Given the description of an element on the screen output the (x, y) to click on. 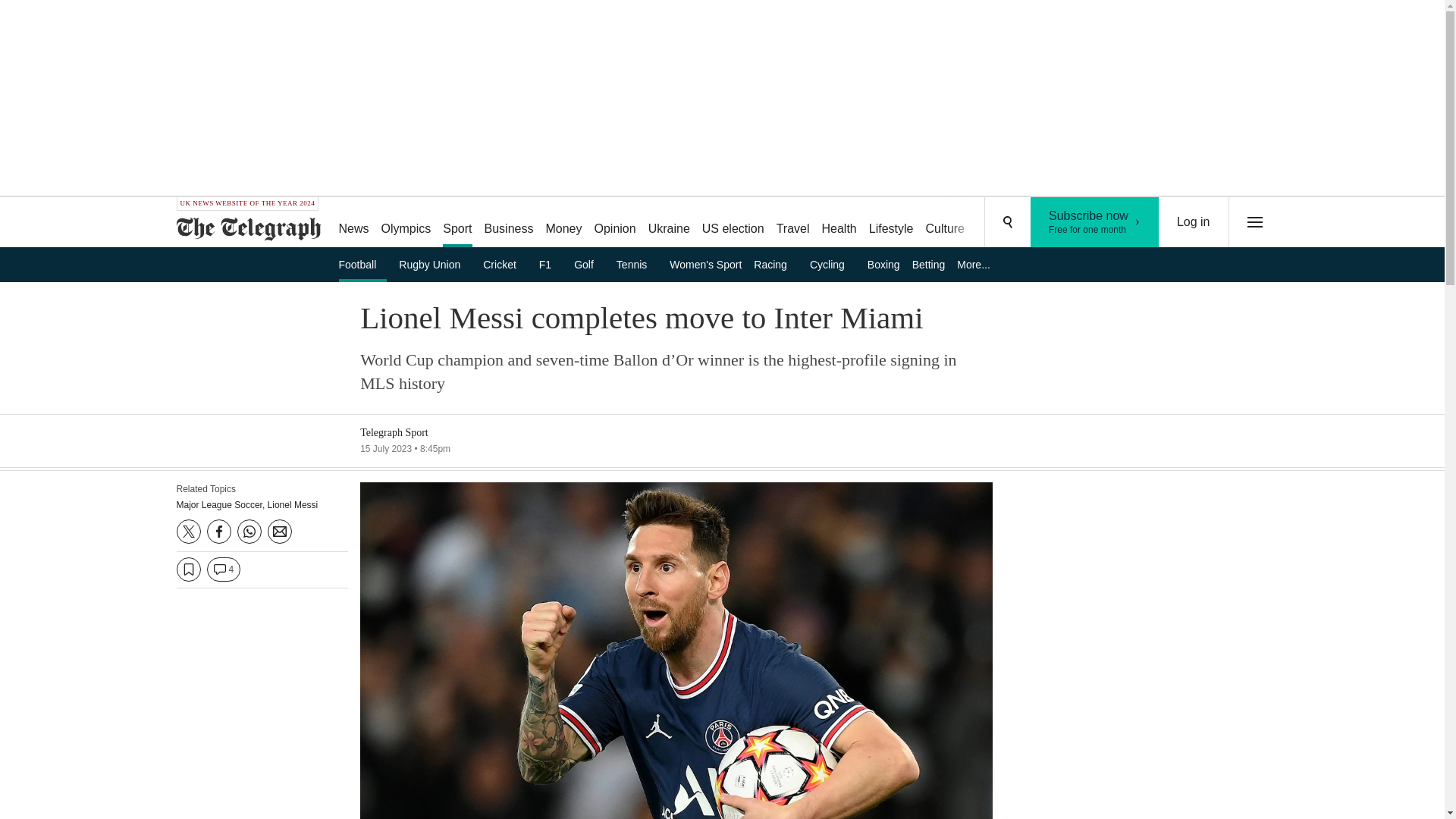
Culture (944, 223)
Business (509, 223)
Lifestyle (1094, 222)
Olympics (891, 223)
Podcasts (406, 223)
Golf (1056, 223)
US election (588, 264)
Football (732, 223)
Travel (362, 264)
